Given the description of an element on the screen output the (x, y) to click on. 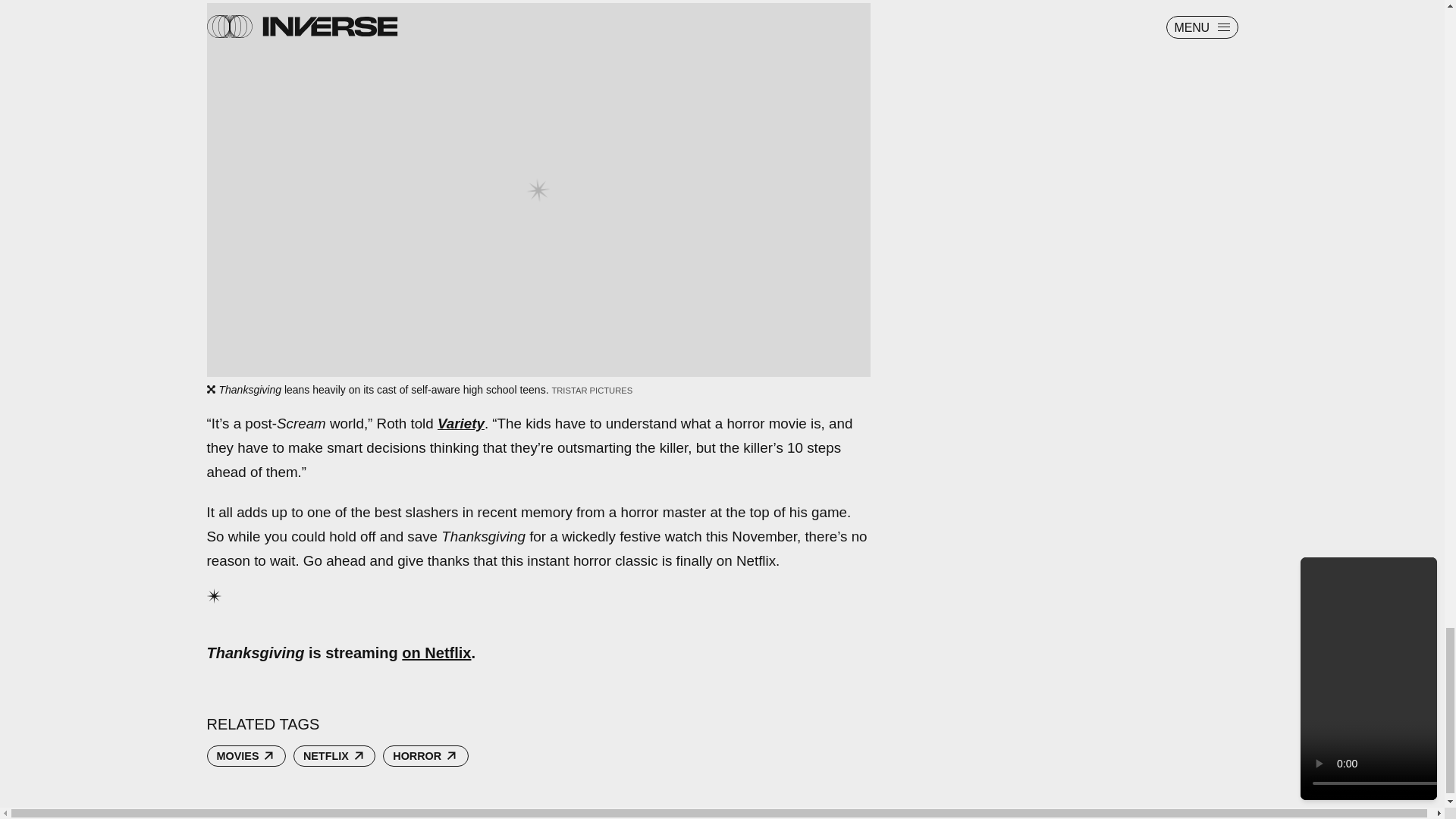
NETFLIX (334, 755)
Variety (461, 423)
HORROR (424, 755)
on Netflix (435, 652)
MOVIES (245, 755)
